Given the description of an element on the screen output the (x, y) to click on. 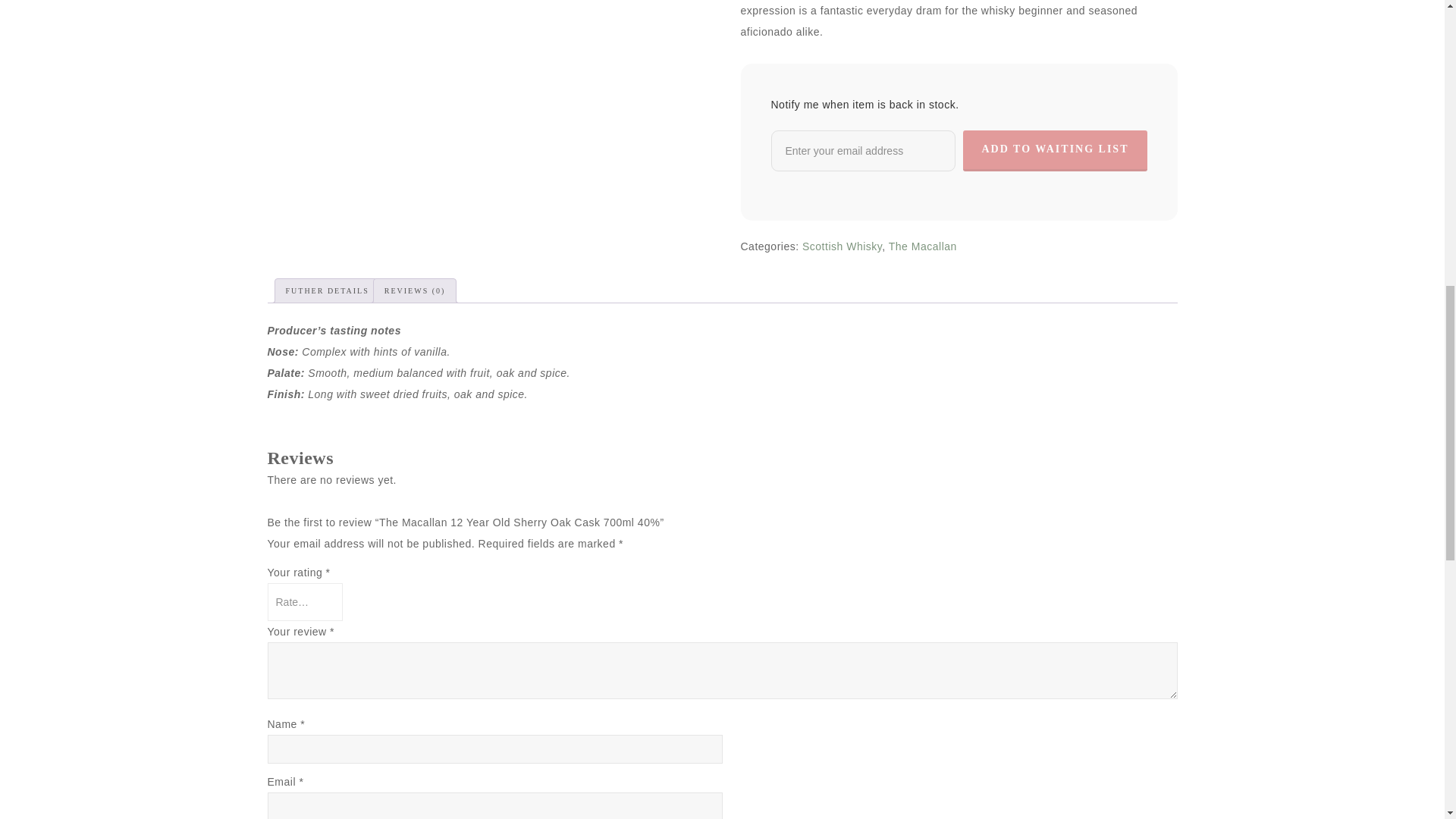
Add to waiting list (1054, 150)
Scottish Whisky (842, 246)
The Macallan (922, 246)
Add to waiting list (1054, 150)
FUTHER DETAILS (326, 291)
